Given the description of an element on the screen output the (x, y) to click on. 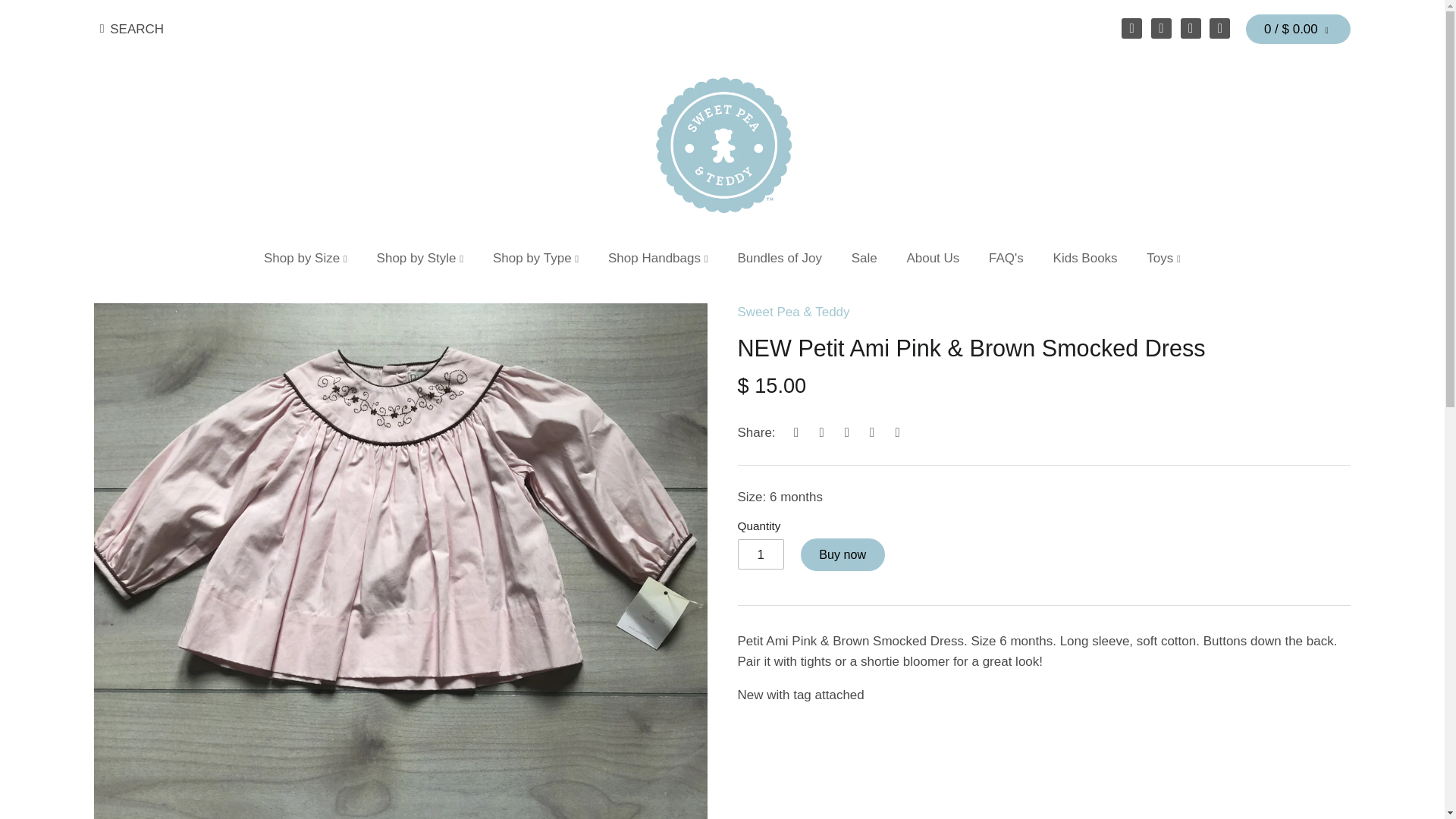
Facebook (1161, 28)
Twitter (1131, 28)
Pinterest (1219, 28)
Instagram (1190, 28)
Share on Twitter (821, 432)
Shop by Size (304, 261)
Share on Facebook (796, 432)
1 (759, 553)
Share using email (897, 432)
Pin the main product image (847, 432)
